Given the description of an element on the screen output the (x, y) to click on. 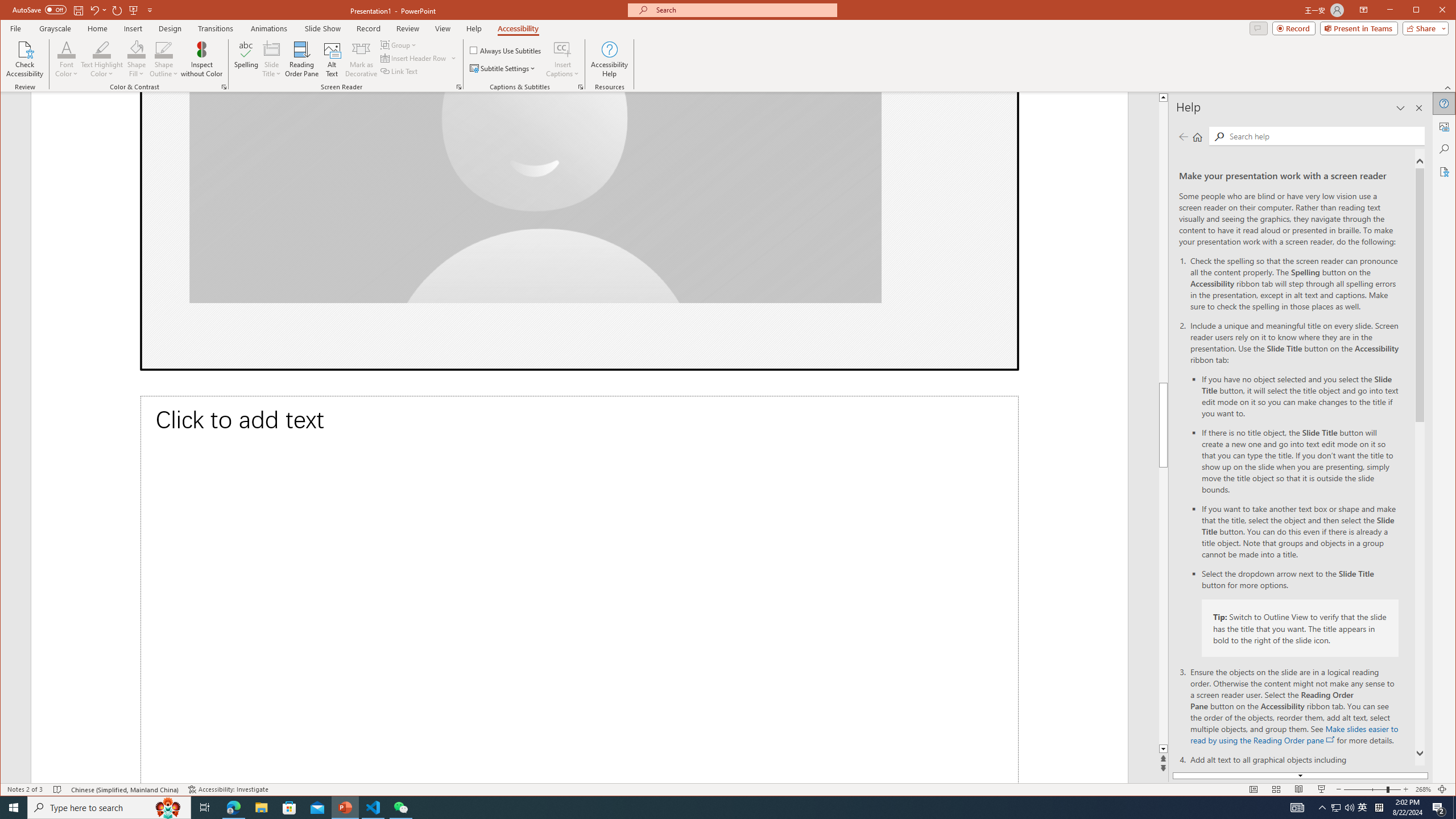
Text Highlight Color (1335, 807)
Q2790: 100% (102, 59)
Search (1349, 807)
Running applications (1218, 136)
Captions & Subtitles (707, 807)
Task Pane Options (580, 86)
Always Use Subtitles (1400, 107)
Insert Header Row (505, 49)
Group (418, 57)
Inspect without Color (399, 44)
